Given the description of an element on the screen output the (x, y) to click on. 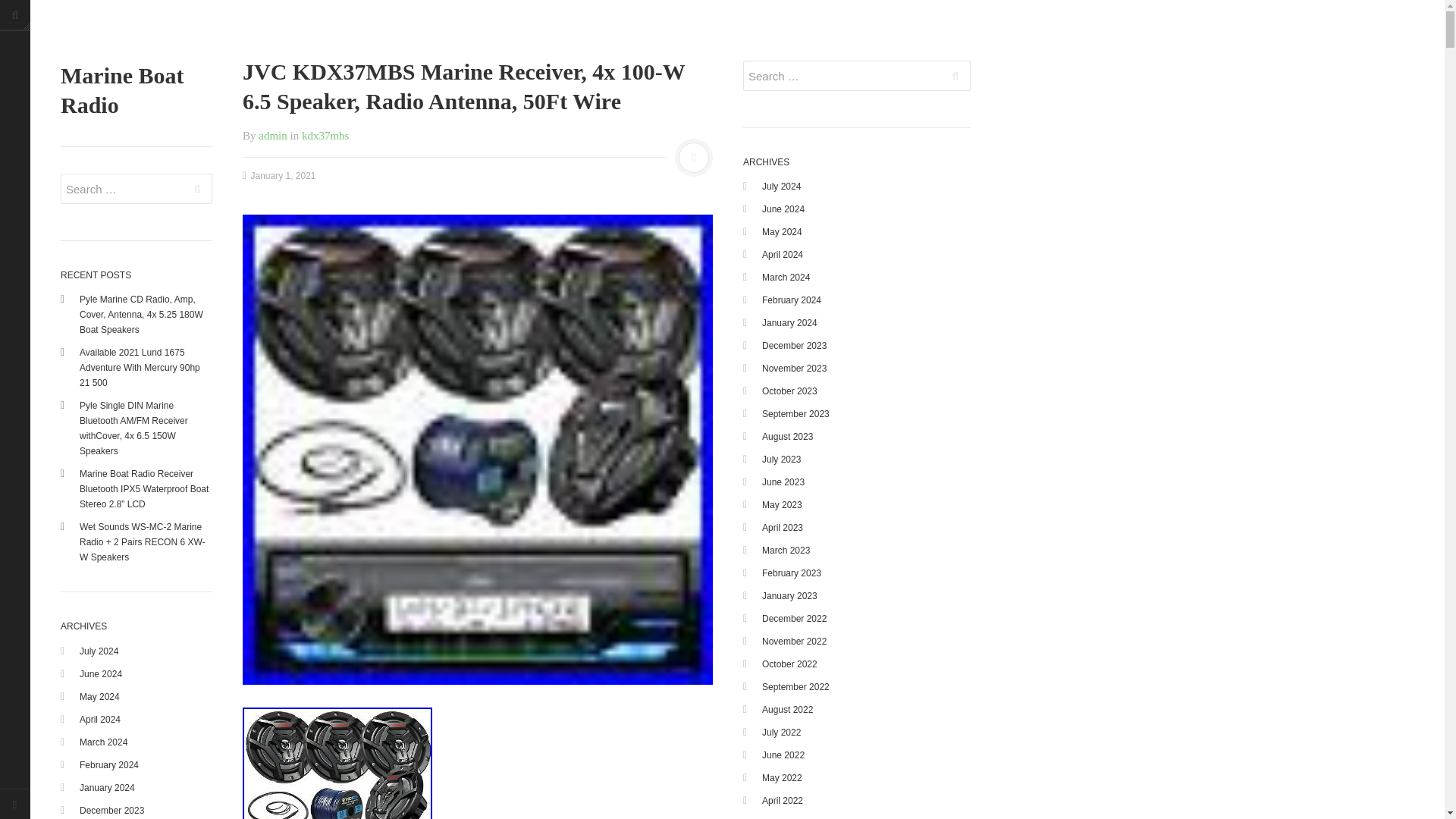
Marine Boat Radio (136, 89)
December 2023 (112, 810)
Search (955, 75)
Search (197, 188)
June 2024 (101, 674)
Search for: (136, 188)
January 2024 (107, 787)
April 2024 (100, 719)
May 2024 (99, 696)
February 2024 (109, 765)
Search (197, 188)
Marine Boat Radio (136, 89)
July 2024 (98, 651)
Search (197, 188)
